Given the description of an element on the screen output the (x, y) to click on. 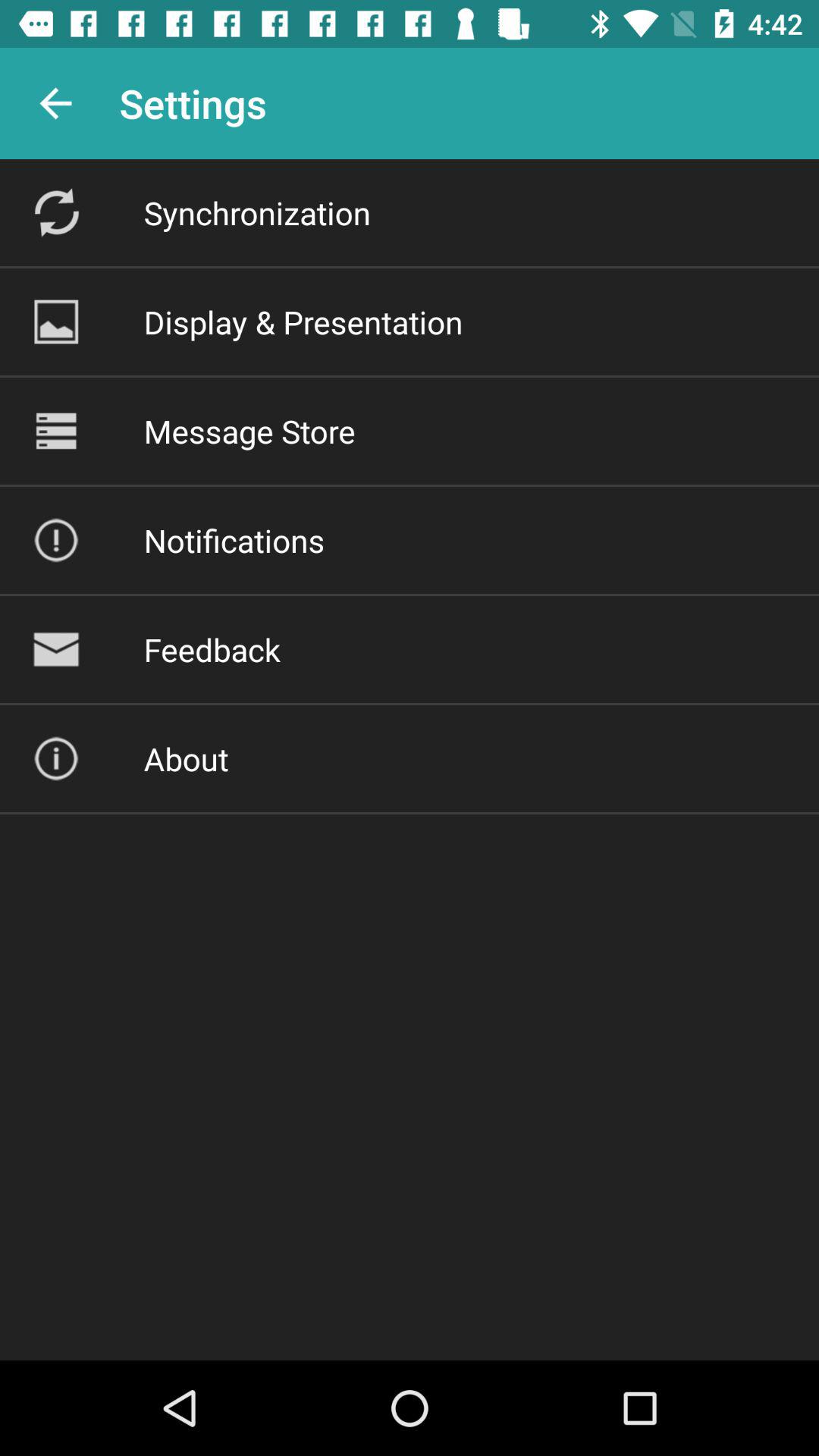
swipe until about item (185, 758)
